Given the description of an element on the screen output the (x, y) to click on. 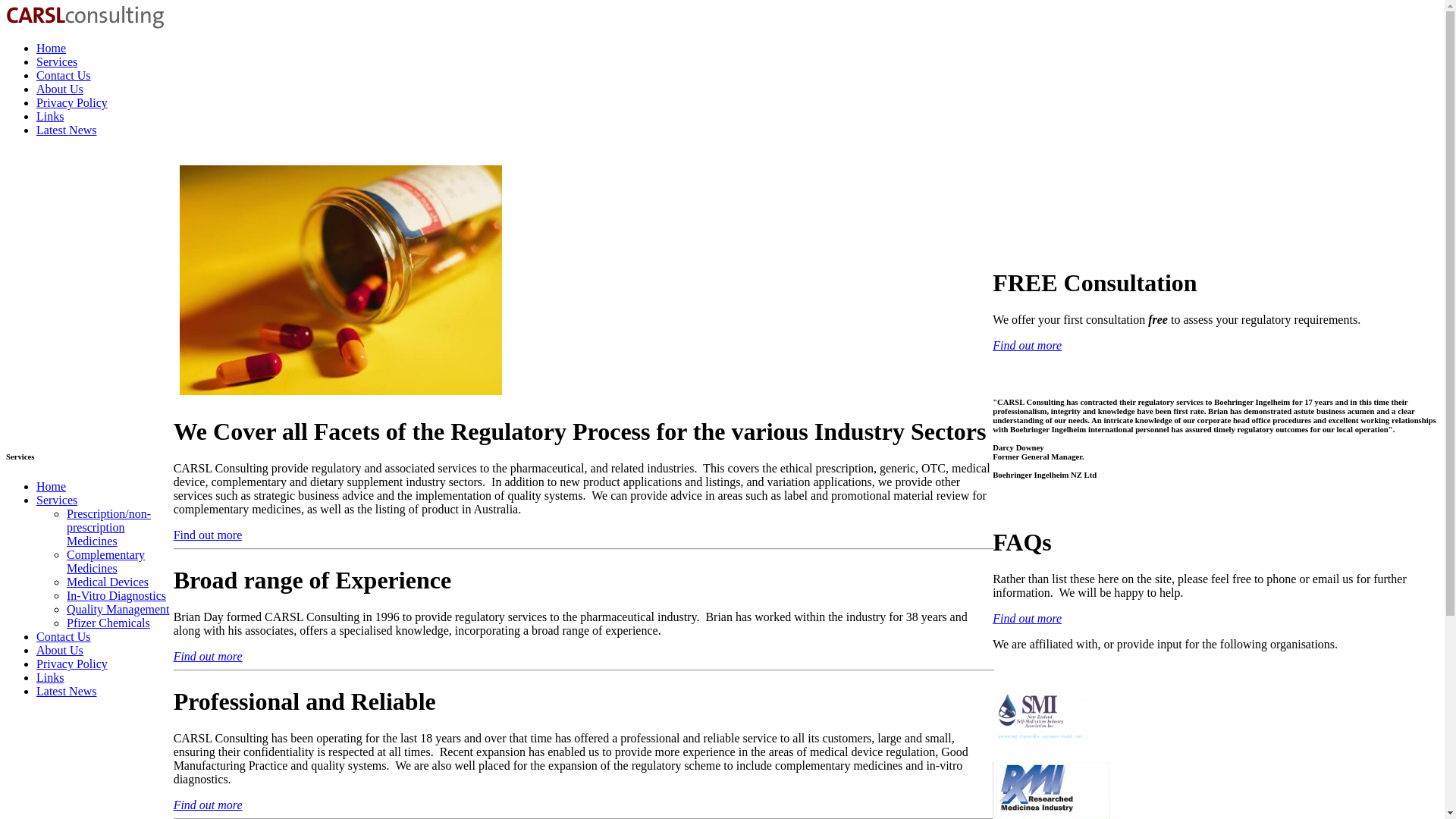
Medical Devices (107, 581)
Contact Us (63, 74)
Services (56, 499)
Latest News (66, 129)
About Us (59, 649)
Home (50, 47)
Complementary Medicines (105, 560)
Find out more (1026, 617)
CARSL Consulting (85, 17)
Pfizer Chemicals (107, 622)
